Given the description of an element on the screen output the (x, y) to click on. 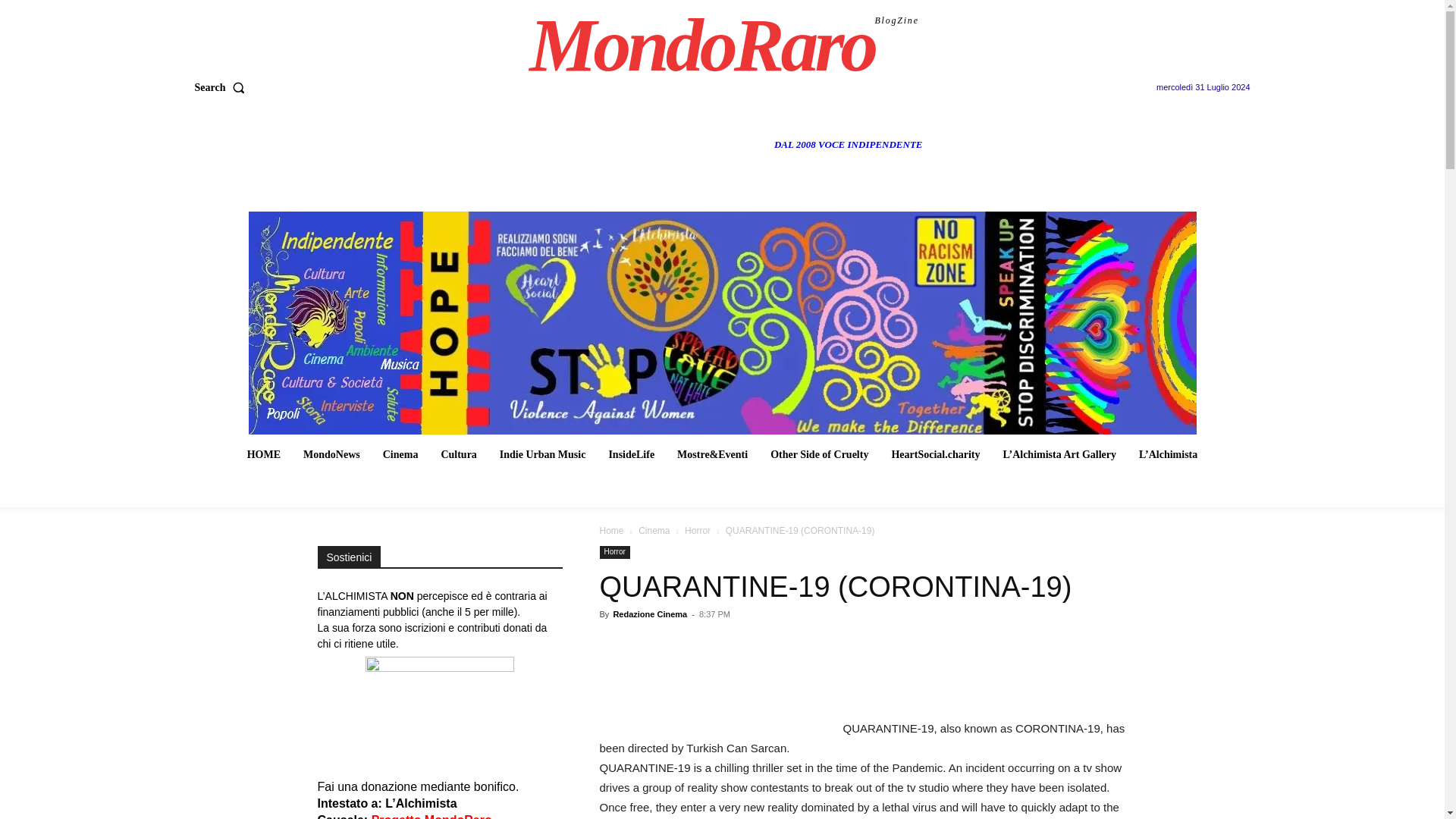
topFacebookLike (712, 641)
View all posts in Cinema (654, 530)
View all posts in Horror (697, 530)
